Given the description of an element on the screen output the (x, y) to click on. 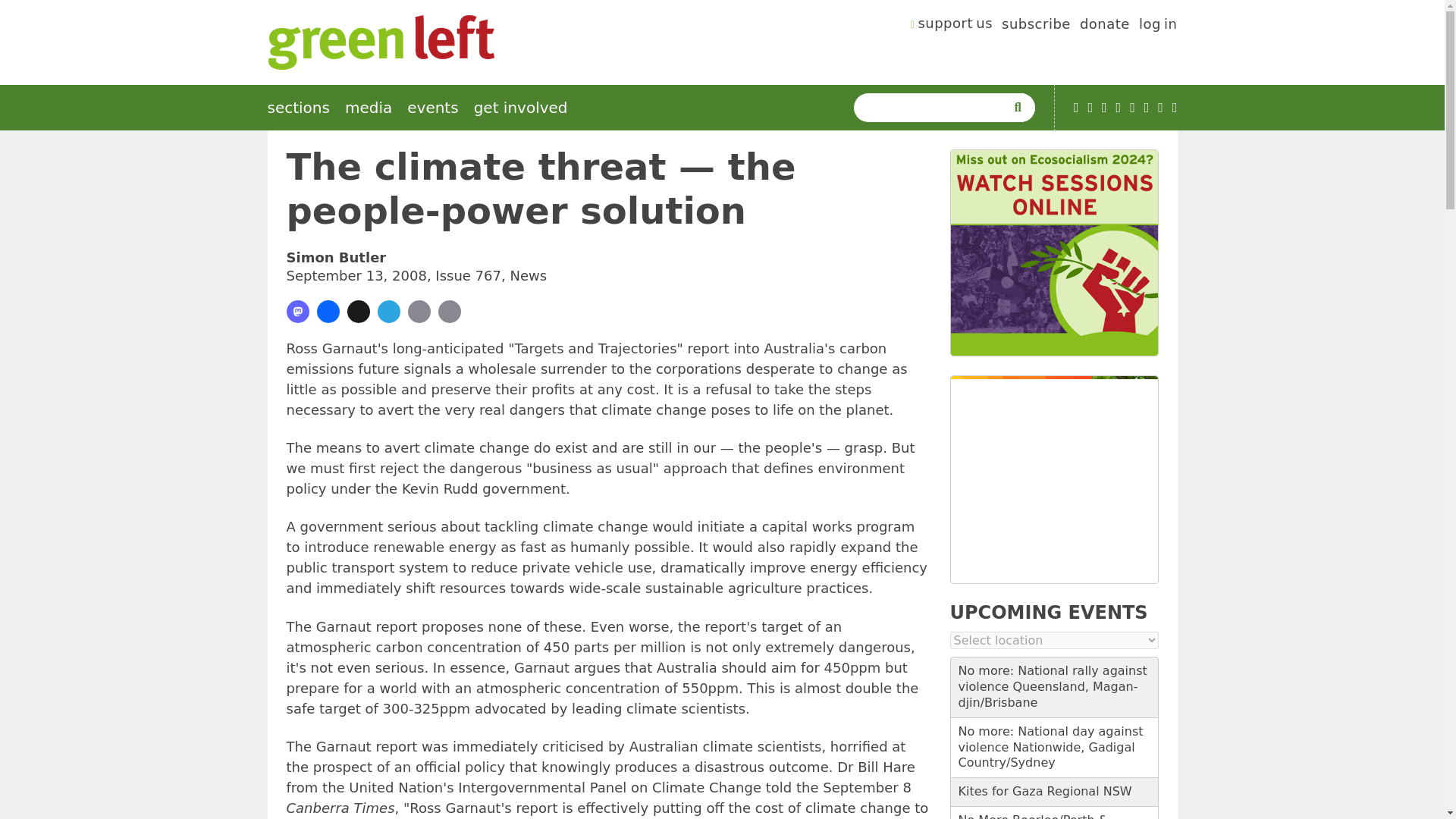
support us (951, 26)
Share on Telegram (388, 311)
share via email (418, 311)
Enter the terms you wish to search for. (932, 107)
Print (449, 311)
donate (1104, 26)
events (432, 107)
log in (1157, 26)
Share on Mastondon (297, 311)
subscribe (1035, 26)
Share on Facebook (328, 311)
Share on X (358, 311)
